Given the description of an element on the screen output the (x, y) to click on. 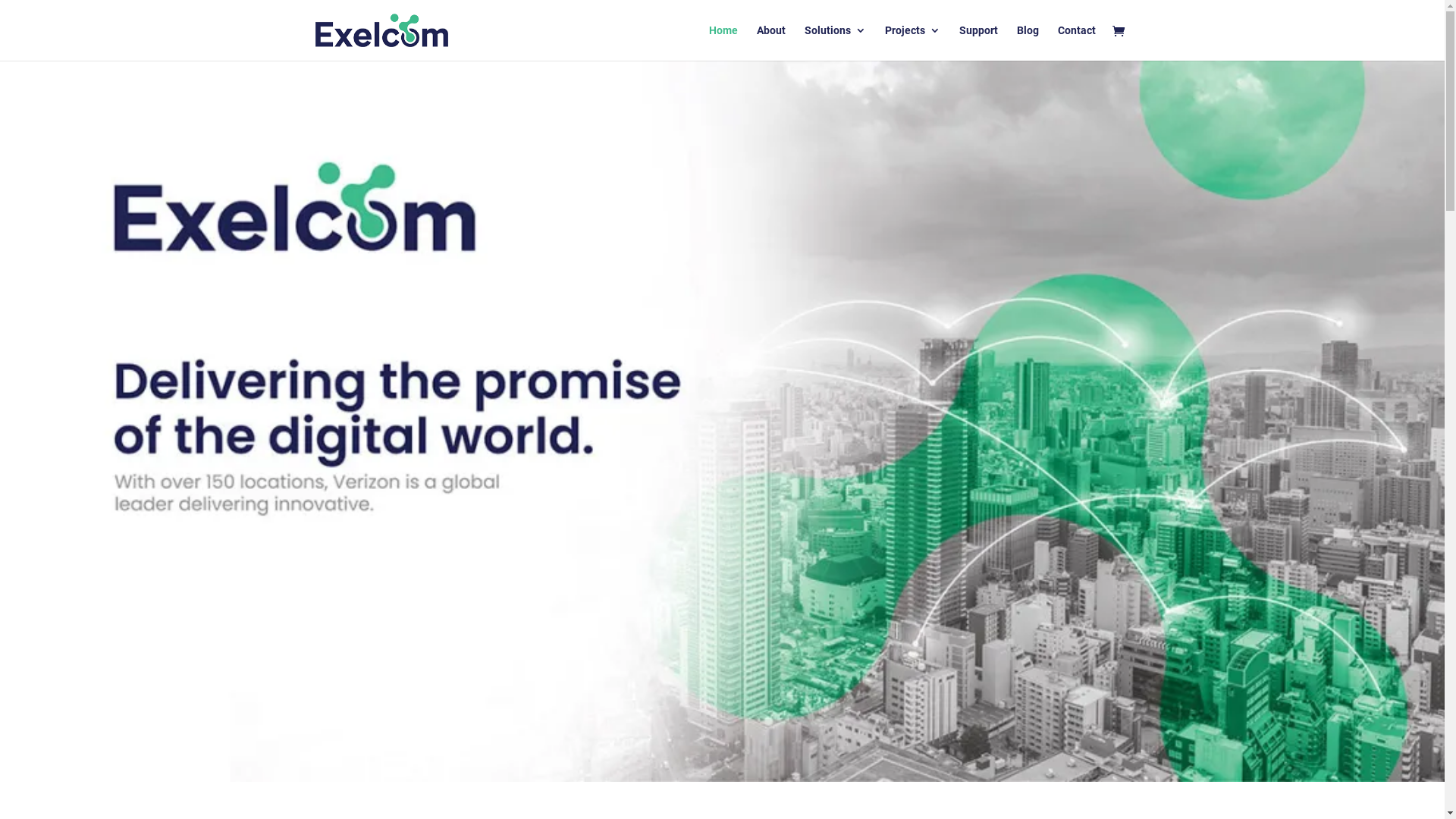
home-banner-img Element type: hover (722, 420)
Solutions Element type: text (834, 42)
Support Element type: text (977, 42)
About Element type: text (770, 42)
Projects Element type: text (911, 42)
Blog Element type: text (1027, 42)
Contact Element type: text (1076, 42)
Home Element type: text (722, 42)
